Given the description of an element on the screen output the (x, y) to click on. 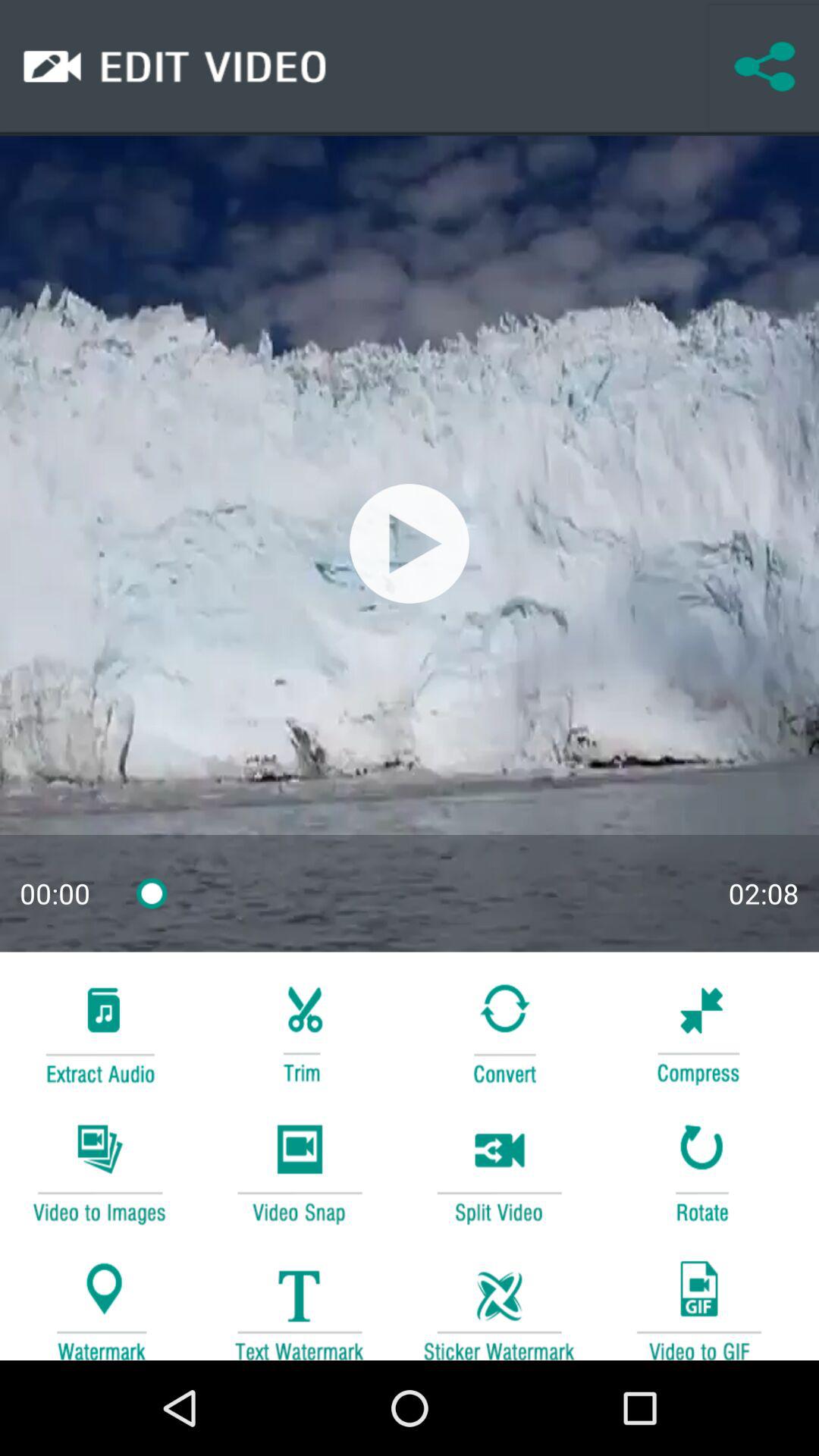
gif video select button (698, 1303)
